Given the description of an element on the screen output the (x, y) to click on. 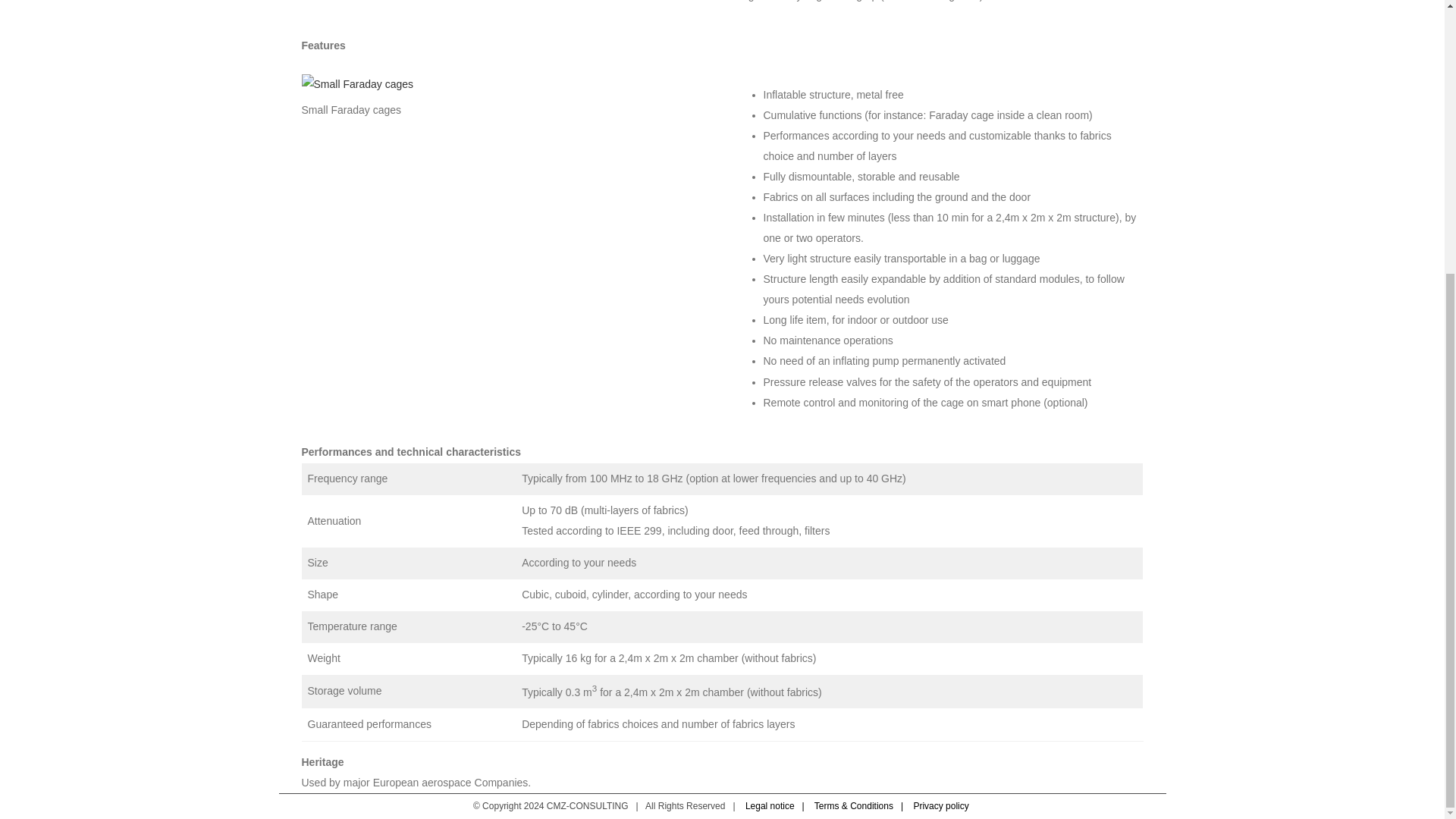
Privacy policy  (941, 805)
